Given the description of an element on the screen output the (x, y) to click on. 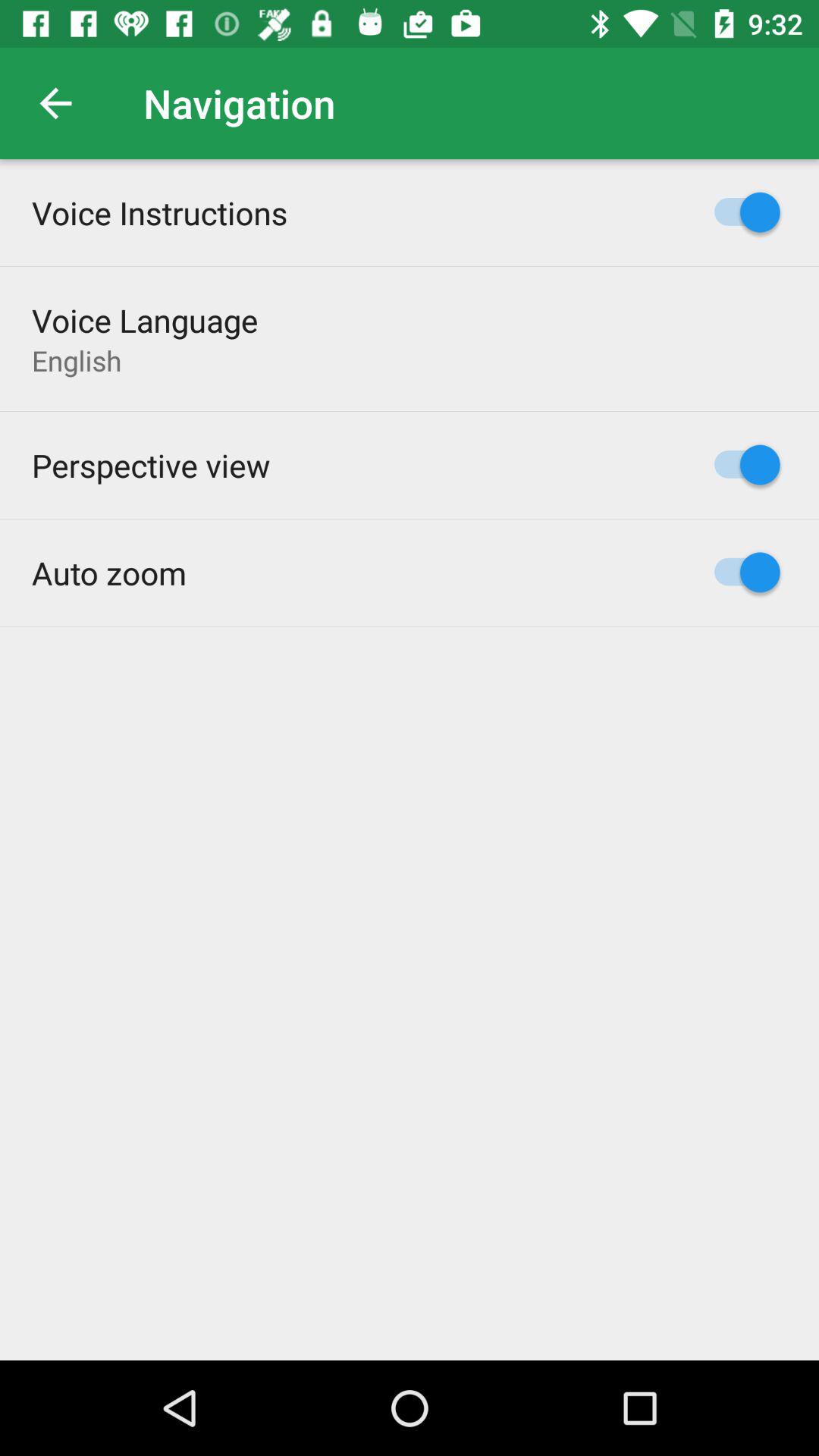
swipe to voice instructions (159, 212)
